Given the description of an element on the screen output the (x, y) to click on. 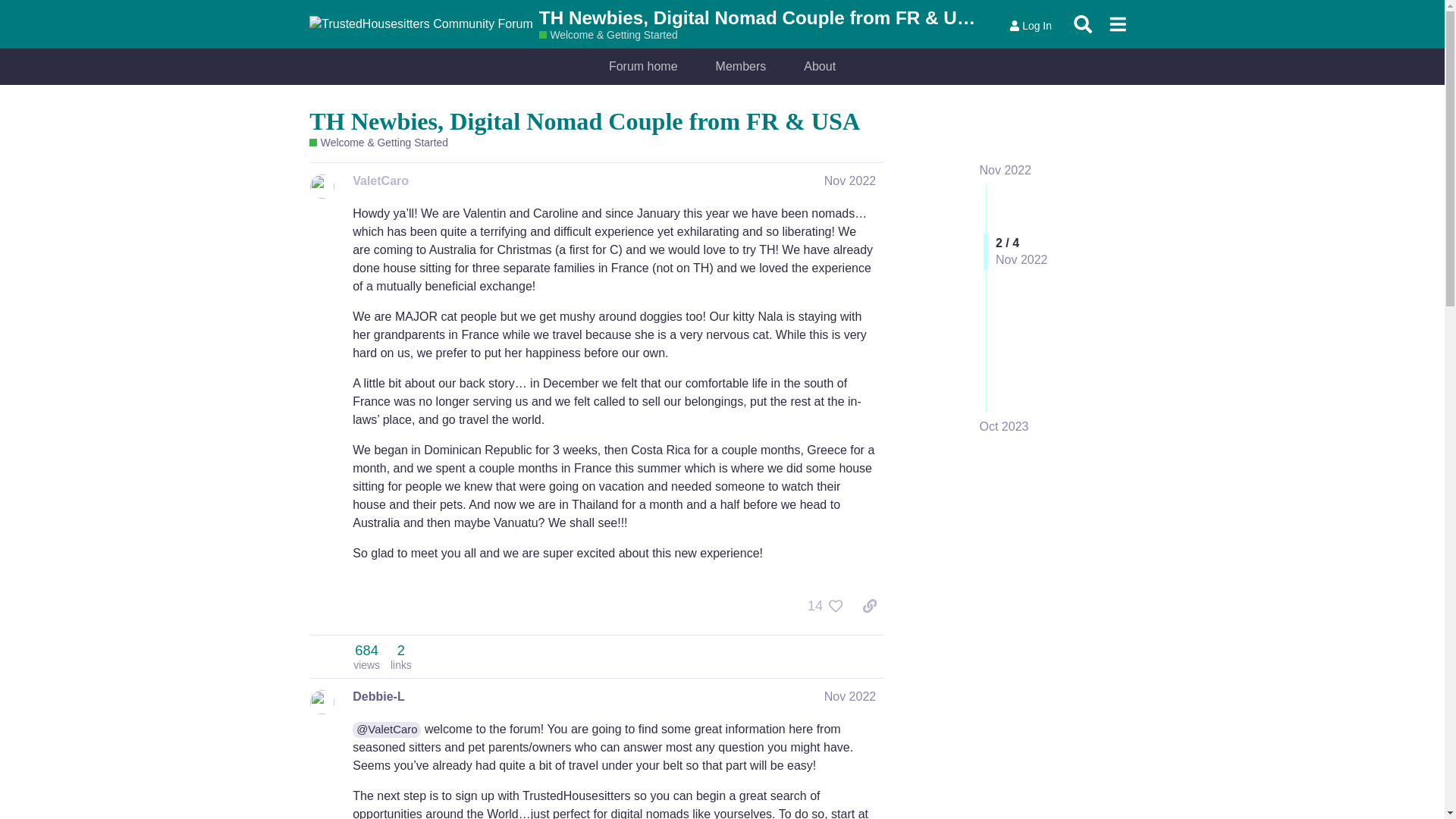
Nov 2022 (850, 696)
Log In (366, 656)
ValetCaro (1030, 25)
Forum home (380, 180)
Nov 2022 (643, 66)
Post date (850, 180)
About (850, 180)
Debbie-L (819, 66)
Jump to the last post (378, 696)
Jump to the first post (1004, 426)
copy a link to this post to clipboard (1005, 169)
Please sign up or log in to like this post (869, 605)
